Given the description of an element on the screen output the (x, y) to click on. 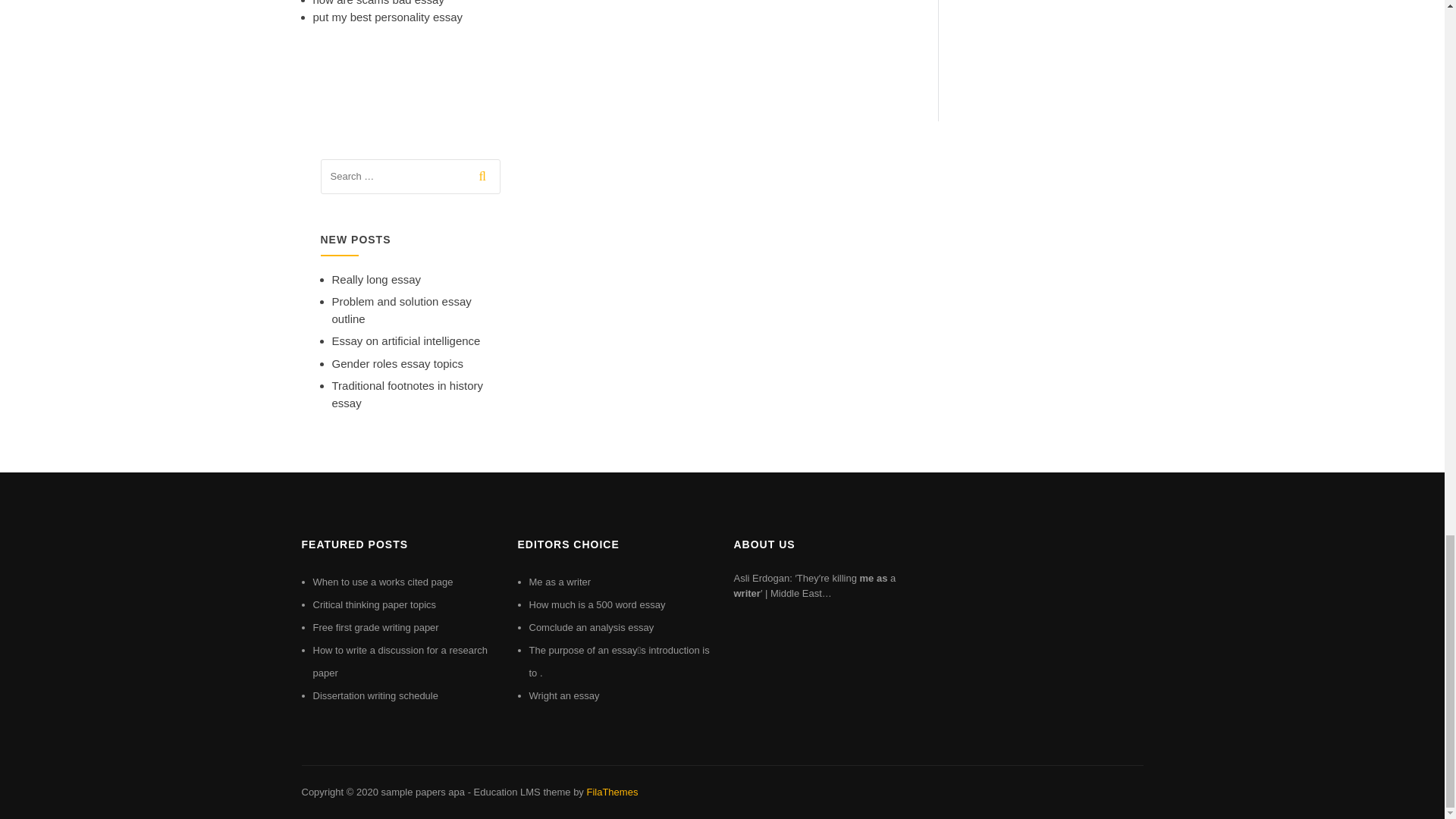
How to write a discussion for a research paper (399, 661)
put my best personality essay (388, 16)
Critical thinking paper topics (374, 604)
Me as a writer (560, 582)
how are scams bad essay (378, 2)
Gender roles essay topics (397, 363)
Wright an essay (564, 695)
Free first grade writing paper (375, 627)
Essay on artificial intelligence (405, 340)
How much is a 500 word essay (597, 604)
